Given the description of an element on the screen output the (x, y) to click on. 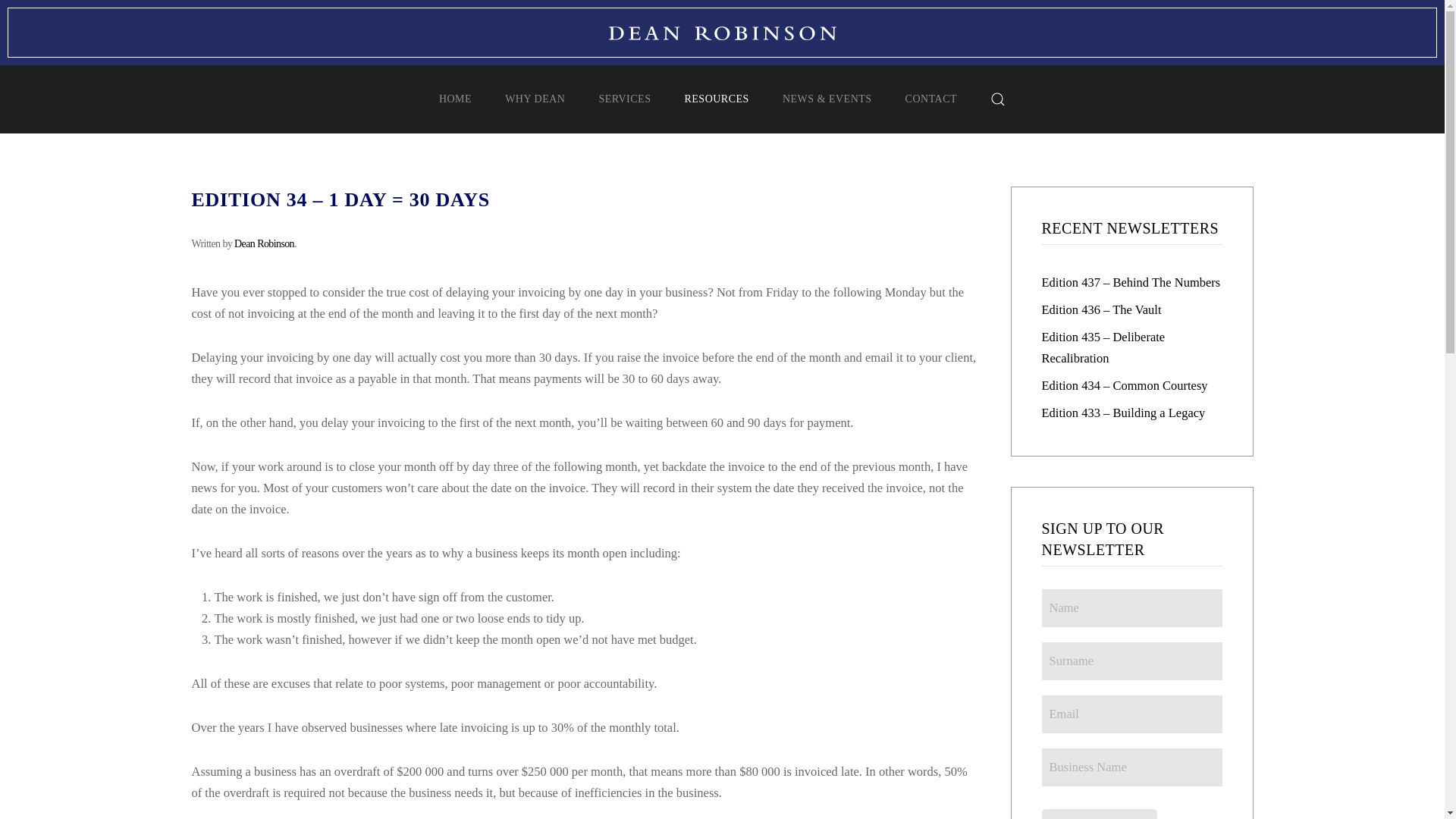
Submit (1099, 814)
SERVICES (624, 98)
WHY DEAN (534, 98)
RESOURCES (716, 98)
